Given the description of an element on the screen output the (x, y) to click on. 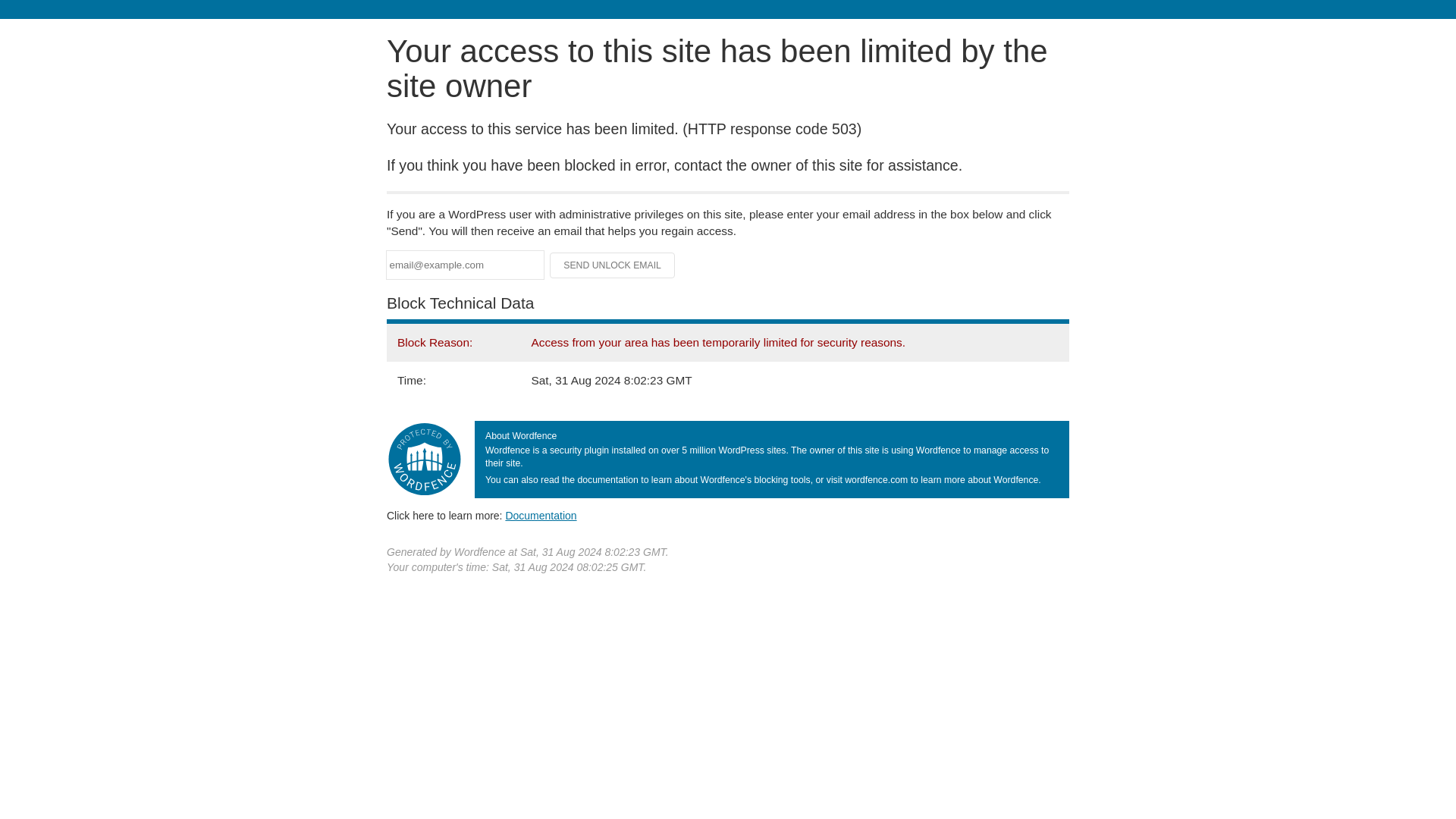
Documentation (540, 515)
Send Unlock Email (612, 265)
Send Unlock Email (612, 265)
